Given the description of an element on the screen output the (x, y) to click on. 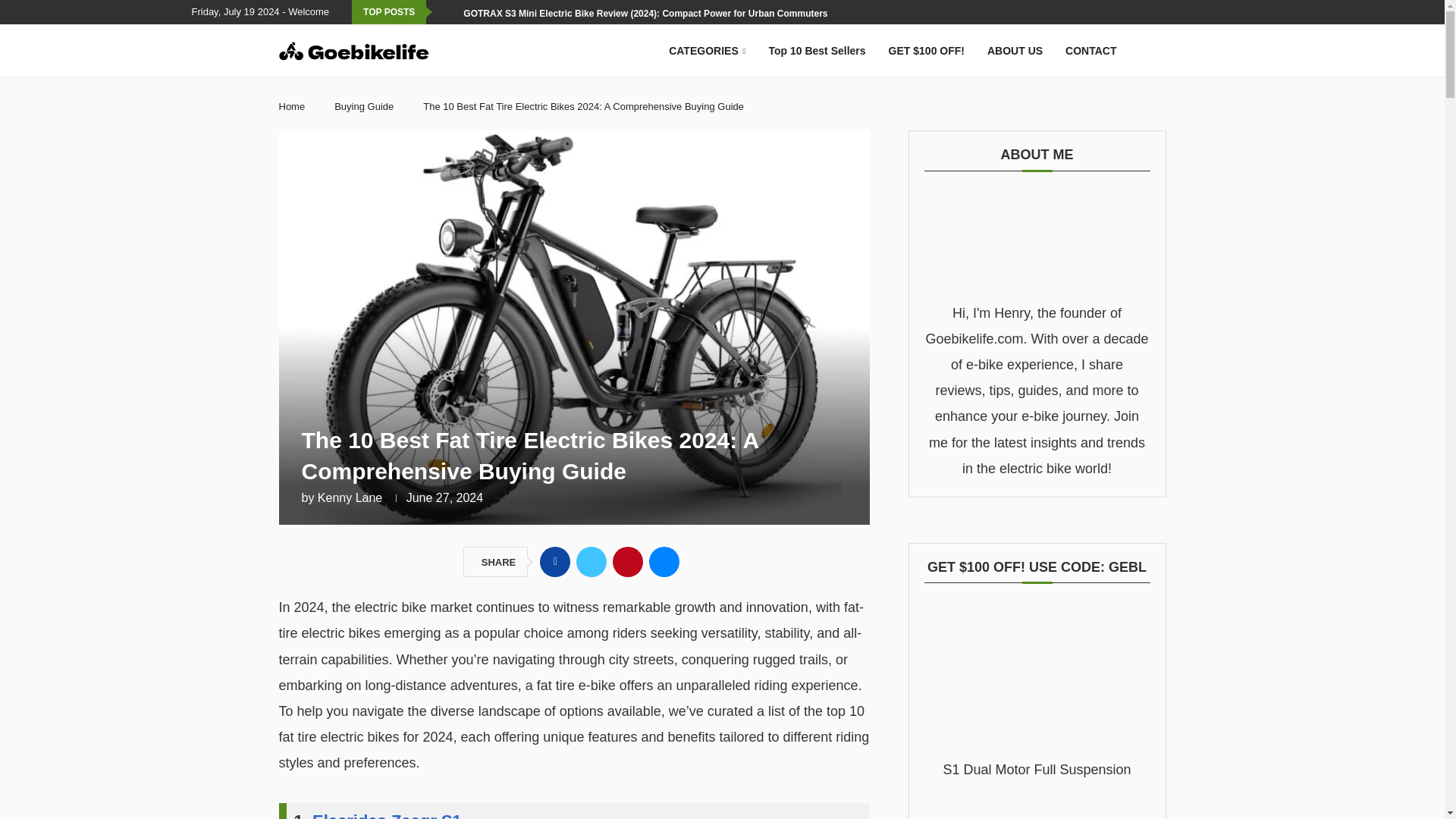
Buying Guide (363, 106)
Kenny Lane (349, 497)
Top 10 Best Sellers (816, 50)
CONTACT (1090, 50)
CATEGORIES (706, 50)
Home (292, 106)
ABOUT US (1014, 50)
